Given the description of an element on the screen output the (x, y) to click on. 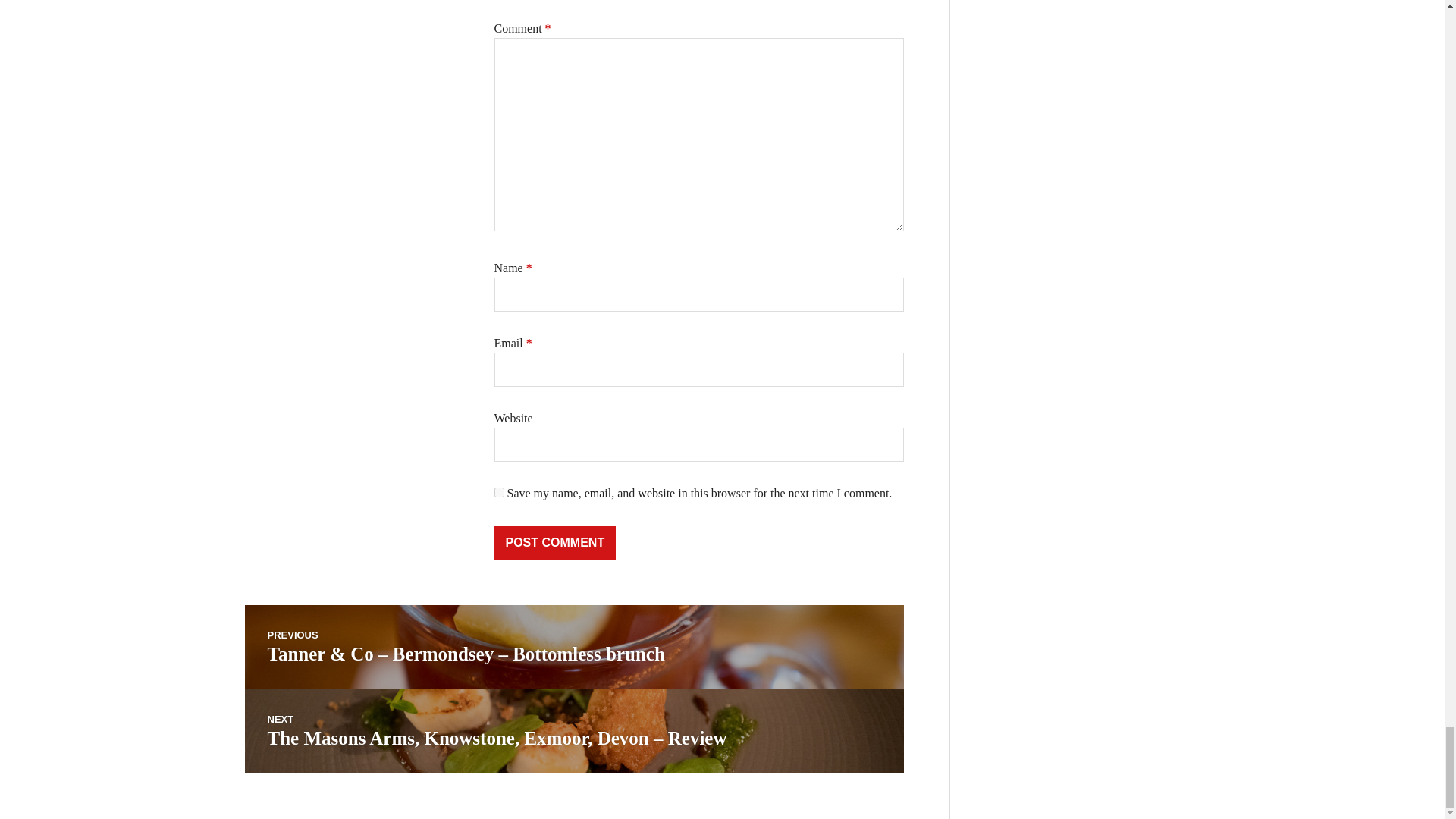
Post Comment (555, 542)
Post Comment (555, 542)
yes (499, 492)
